Given the description of an element on the screen output the (x, y) to click on. 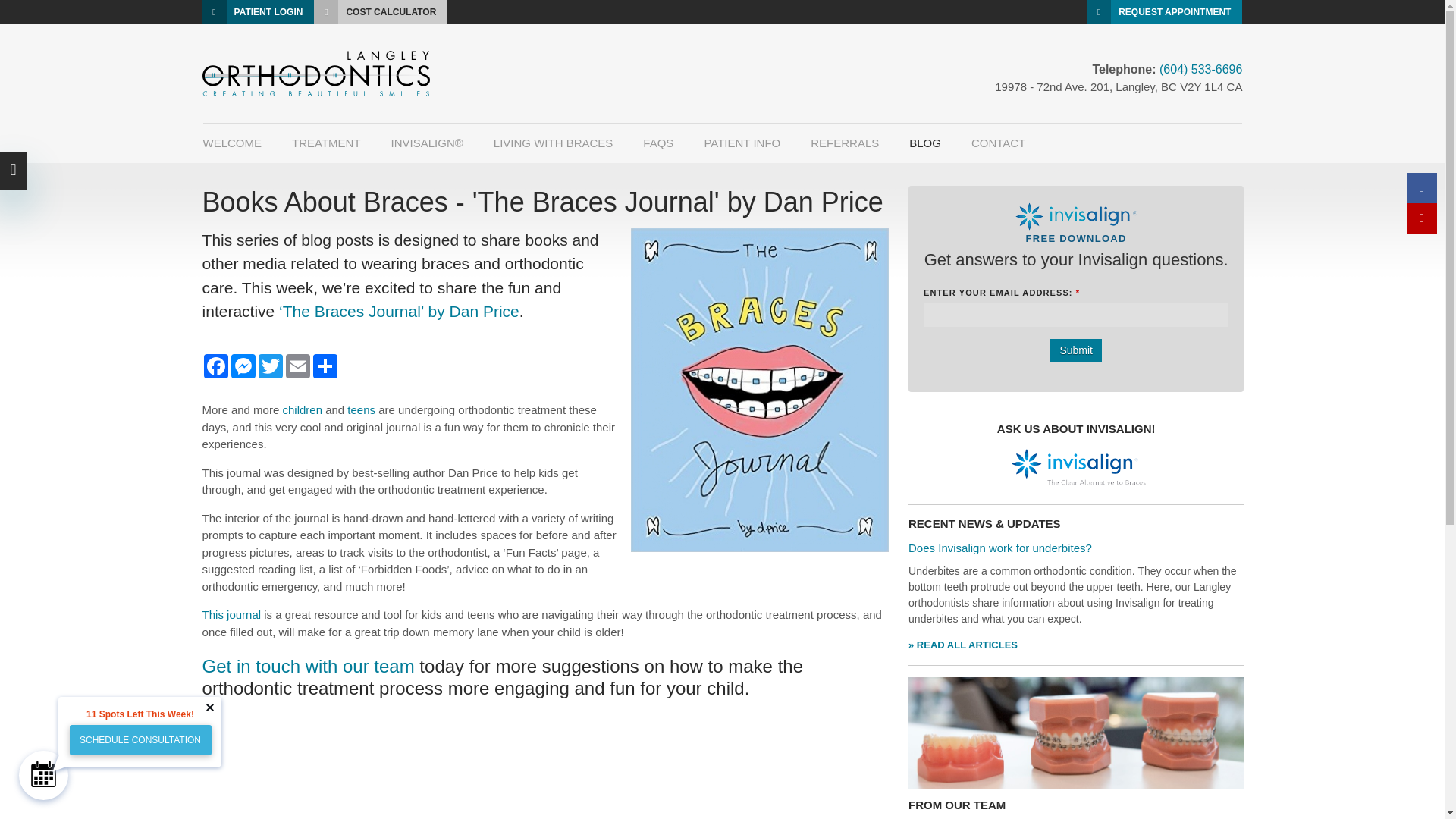
calendar (43, 774)
Submit (1075, 350)
